Given the description of an element on the screen output the (x, y) to click on. 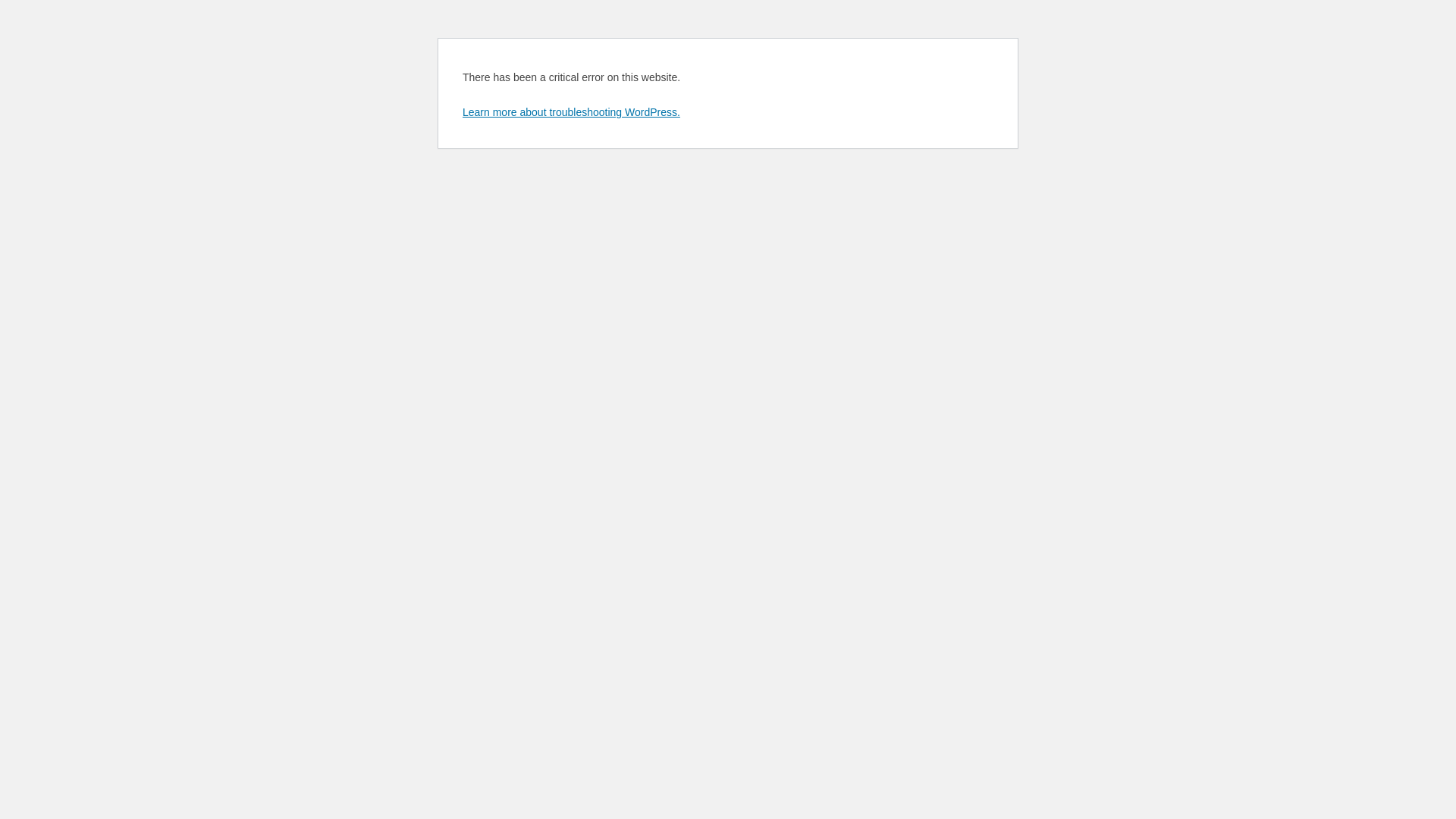
Learn more about troubleshooting WordPress. Element type: text (571, 112)
